Given the description of an element on the screen output the (x, y) to click on. 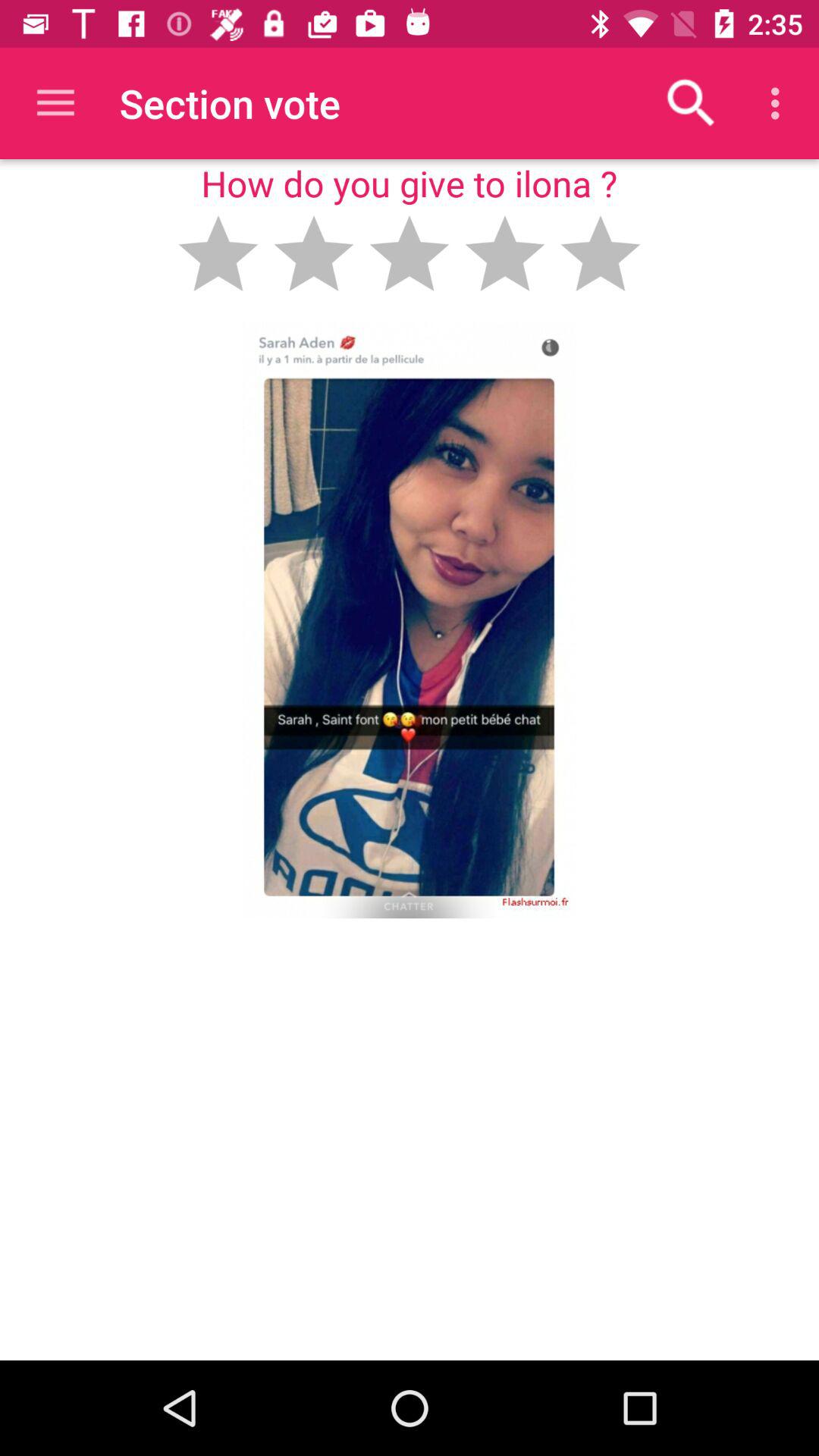
tap the item to the left of the section vote  item (55, 103)
